Given the description of an element on the screen output the (x, y) to click on. 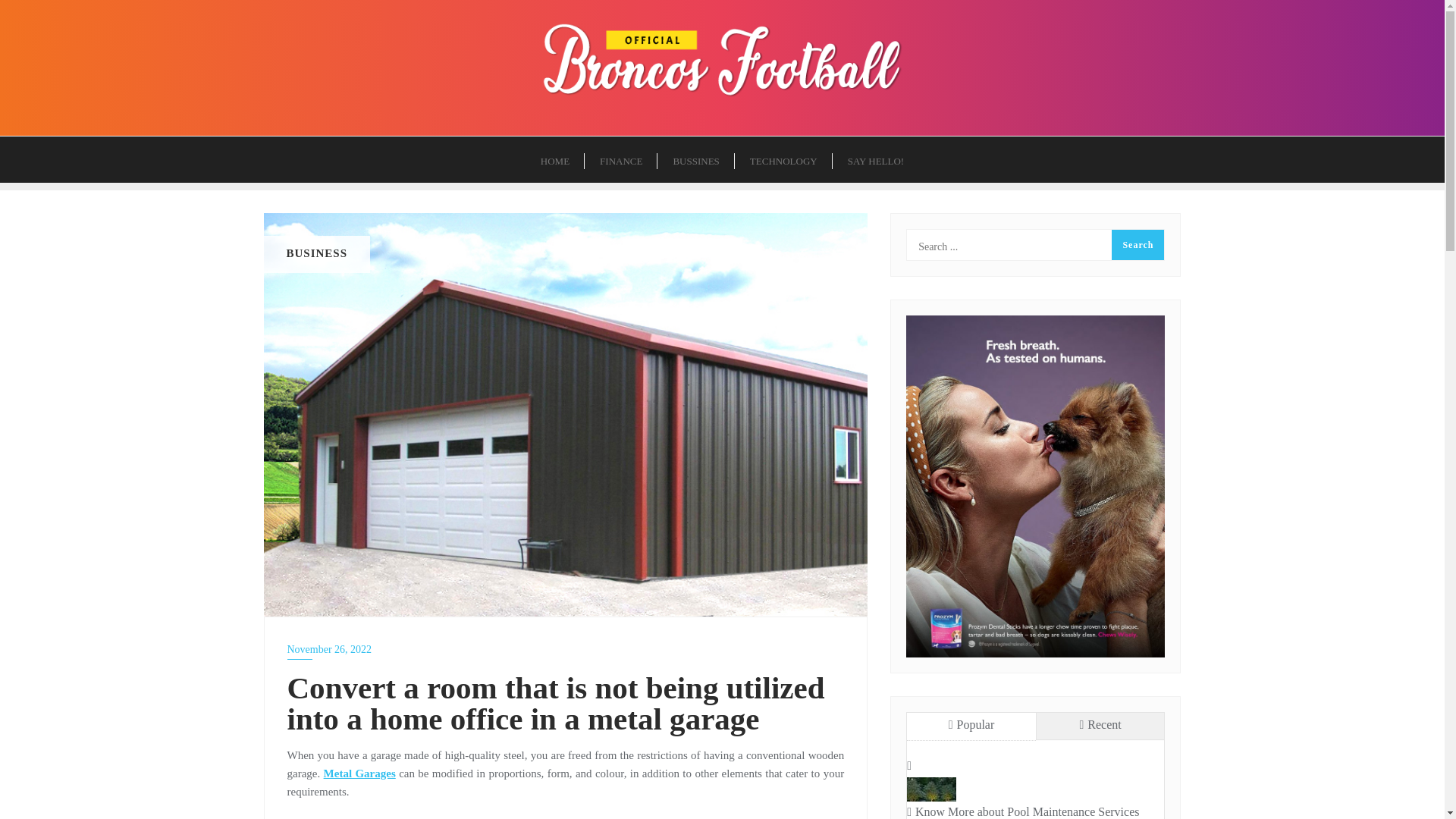
FINANCE (621, 159)
Search (1137, 245)
Know More about Pool Maintenance Services (931, 787)
TECHNOLOGY (783, 159)
Search (1137, 245)
Search (1137, 245)
HOME (555, 159)
November 26, 2022 (565, 649)
SAY HELLO! (876, 159)
Know More about Pool Maintenance Services (1035, 810)
Metal Garages (359, 773)
BUSSINES (695, 159)
Recent (1099, 726)
Popular (971, 726)
